Given the description of an element on the screen output the (x, y) to click on. 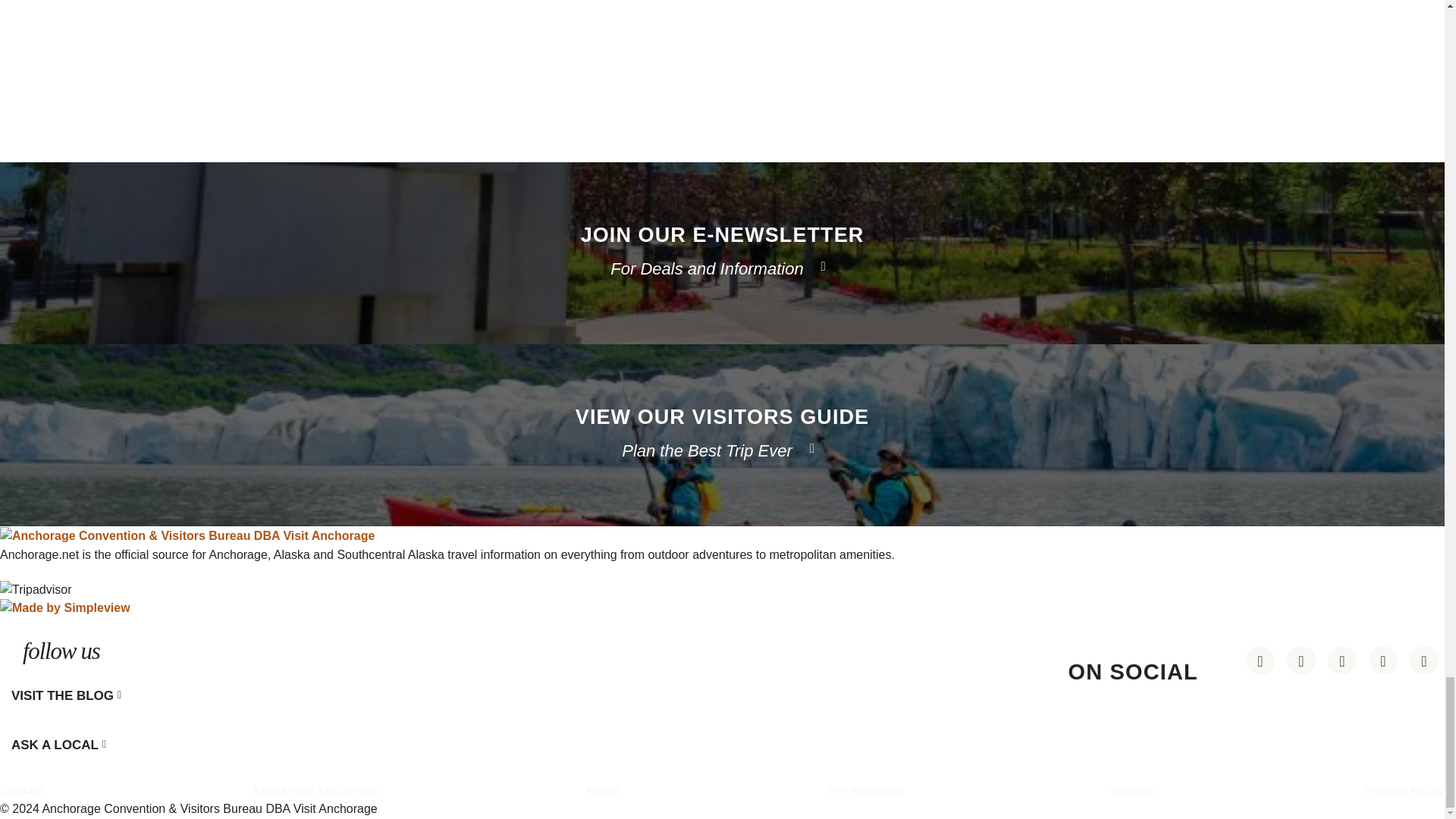
Visit our instagram page (1301, 660)
Visit our facebook page (1382, 660)
Visit our twitter page (1423, 660)
Visit our youtube page (1341, 660)
Visit our pinterest page (1260, 660)
For Alaskans (864, 789)
About Visit Anchorage (314, 789)
Contact (21, 789)
Media (603, 789)
Sitemap (1132, 789)
